Given the description of an element on the screen output the (x, y) to click on. 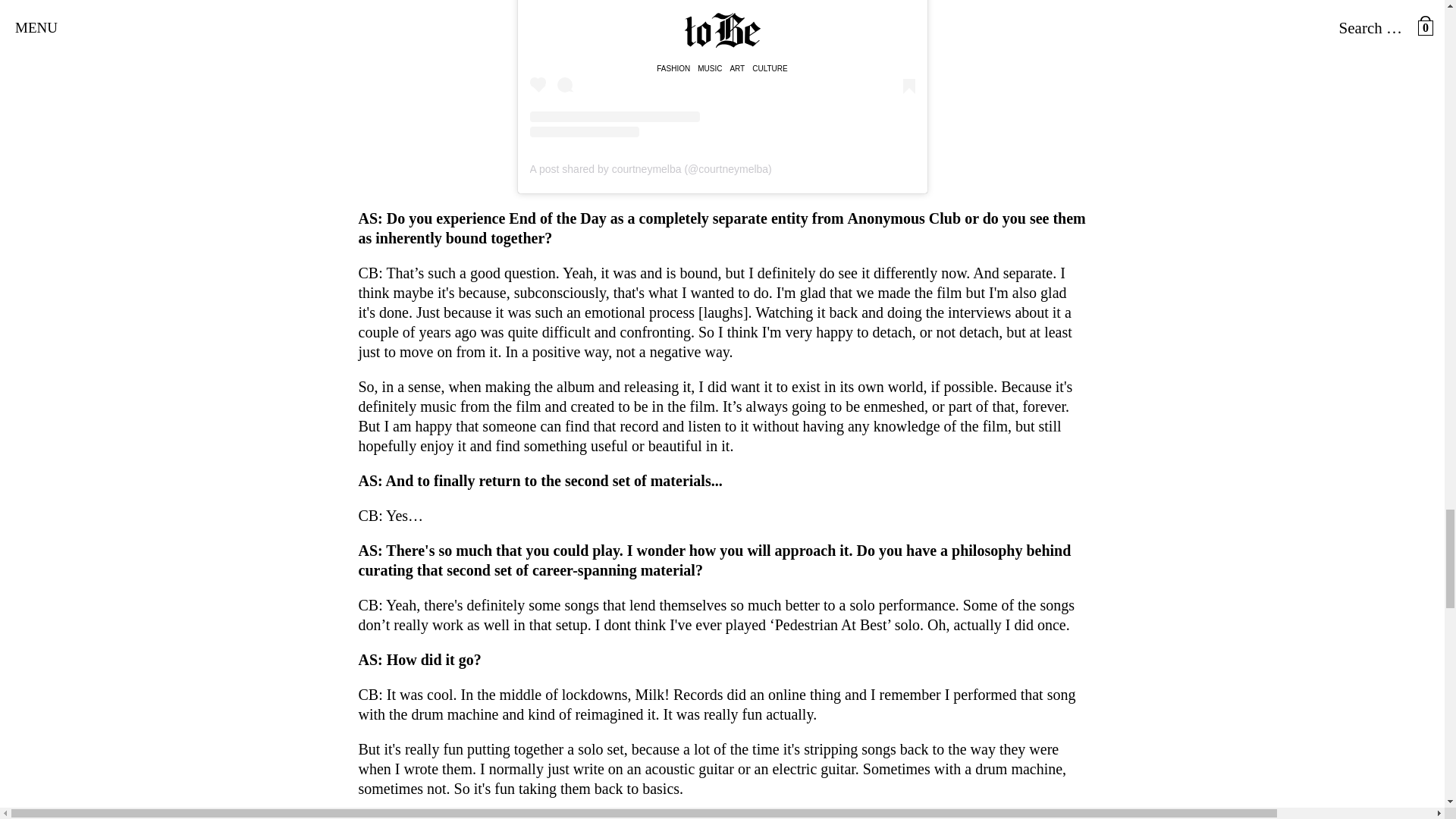
View this post on Instagram (721, 68)
